Given the description of an element on the screen output the (x, y) to click on. 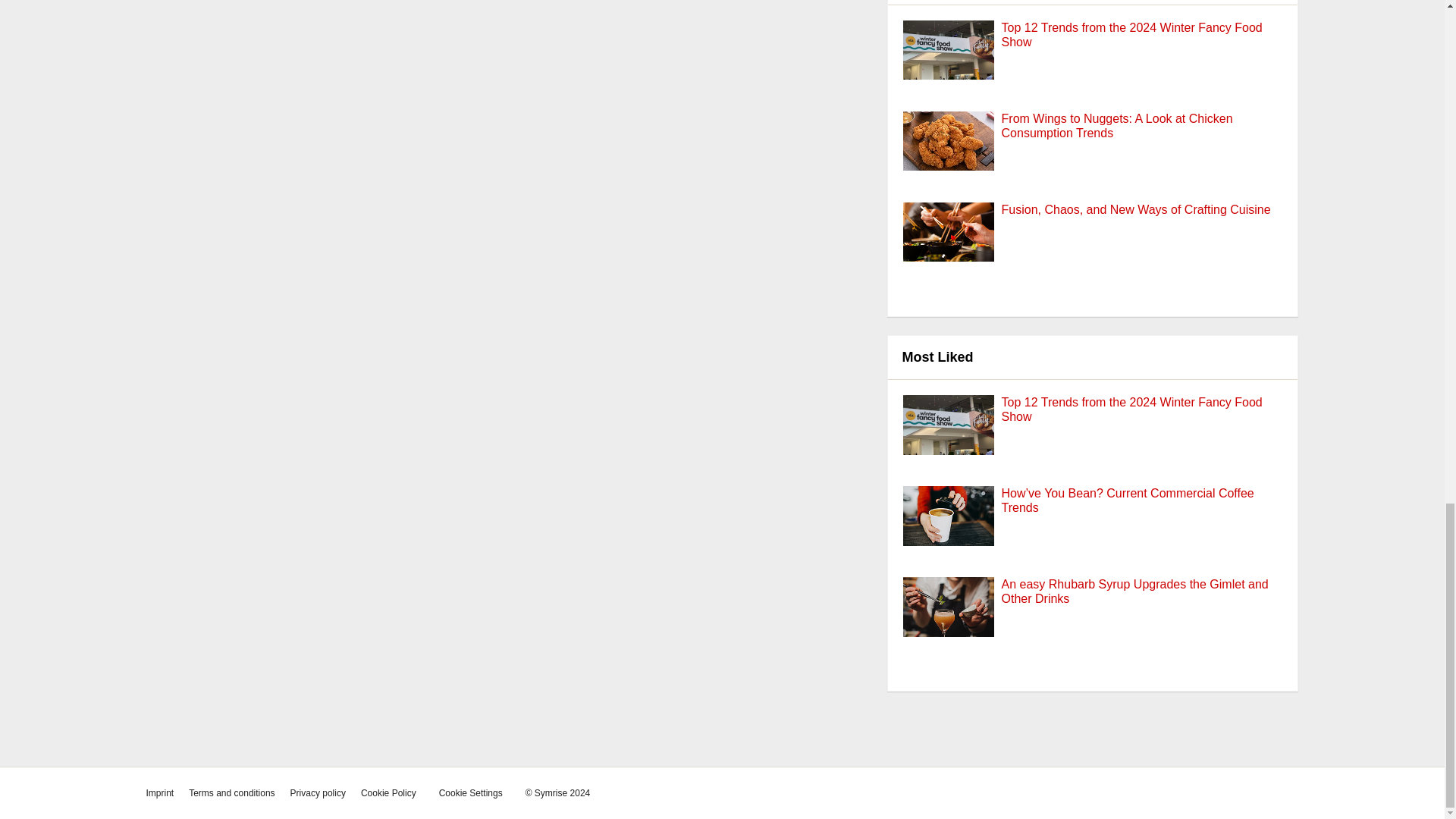
From Wings to Nuggets: A Look at Chicken Consumption Trends (1117, 125)
Top 12 Trends from the 2024 Winter Fancy Food Show (1131, 409)
Top 12 Trends from the 2024 Winter Fancy Food Show (1131, 34)
Imprint (159, 792)
Fusion, Chaos, and New Ways of Crafting Cuisine (948, 247)
Top 12 Trends from the 2024 Winter Fancy Food Show (948, 440)
Fusion, Chaos, and New Ways of Crafting Cuisine (1136, 209)
From Wings to Nuggets: A Look at Chicken Consumption Trends (948, 156)
Fusion, Chaos, and New Ways of Crafting Cuisine (1136, 209)
Top 12 Trends from the 2024 Winter Fancy Food Show (1131, 409)
From Wings to Nuggets: A Look at Chicken Consumption Trends (1117, 125)
An easy Rhubarb Syrup Upgrades the Gimlet and Other Drinks (1134, 591)
Top 12 Trends from the 2024 Winter Fancy Food Show (1131, 34)
Top 12 Trends from the 2024 Winter Fancy Food Show (948, 65)
